Given the description of an element on the screen output the (x, y) to click on. 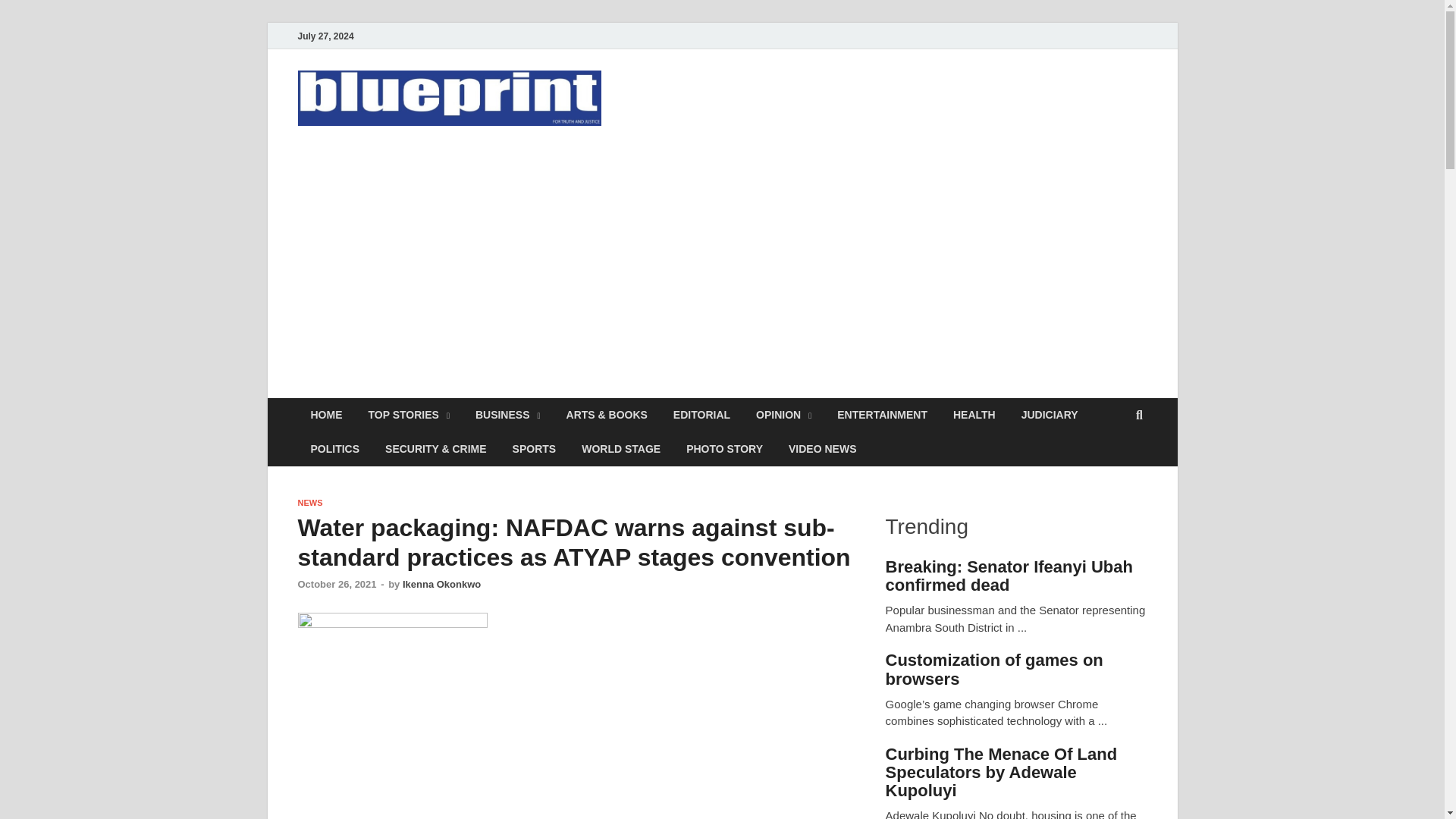
EDITORIAL (701, 415)
BUSINESS (508, 415)
ENTERTAINMENT (882, 415)
OPINION (783, 415)
TOP STORIES (408, 415)
Blueprint Newspapers Limited (504, 161)
HOME (326, 415)
